Given the description of an element on the screen output the (x, y) to click on. 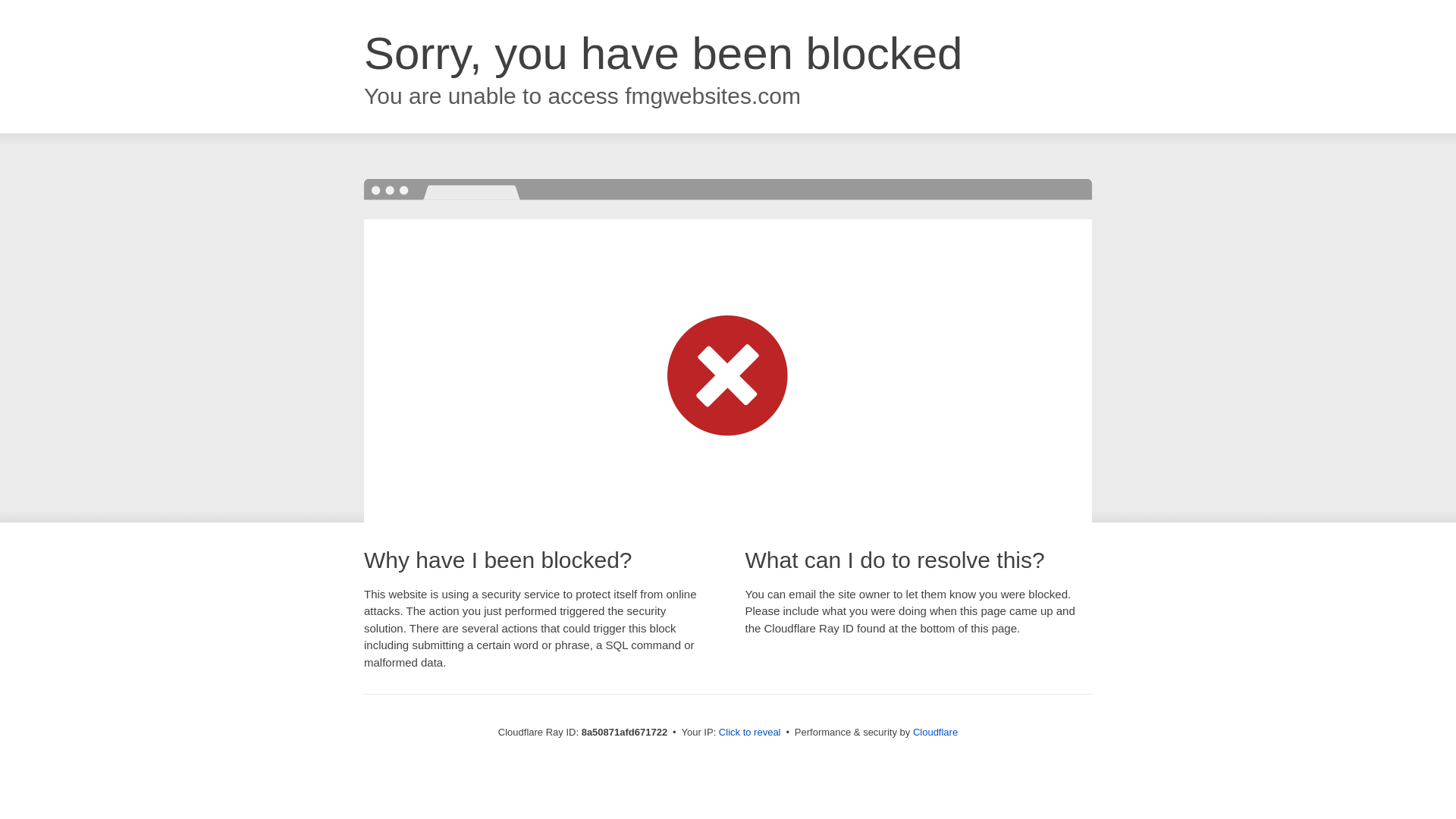
Cloudflare (935, 731)
Click to reveal (749, 732)
